Given the description of an element on the screen output the (x, y) to click on. 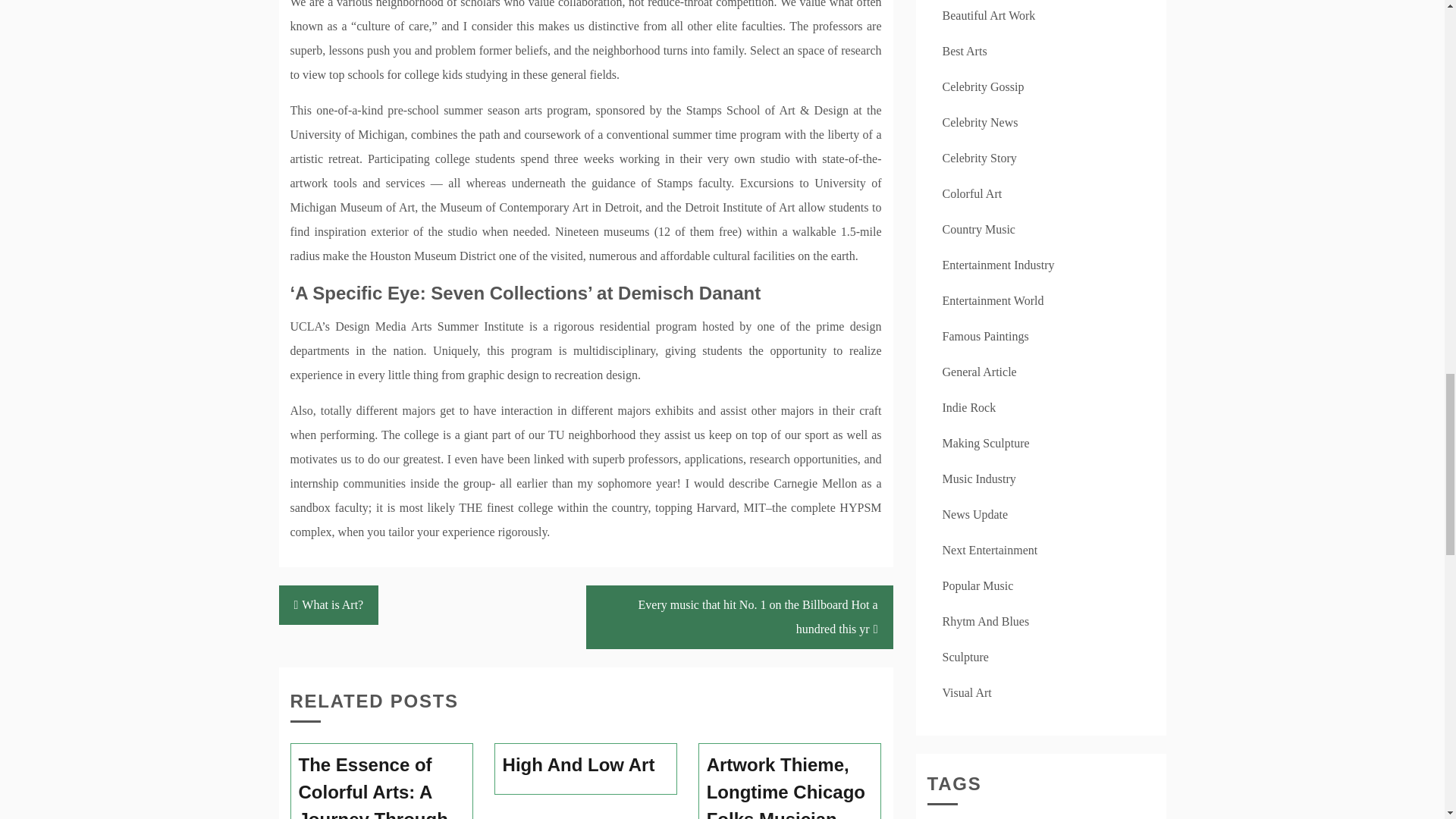
The Essence of Colorful Arts: A Journey Through Creativity (381, 785)
Artwork Thieme, Longtime Chicago Folks Musician, Dies (789, 785)
What is Art? (328, 604)
High And Low Art (585, 764)
